Given the description of an element on the screen output the (x, y) to click on. 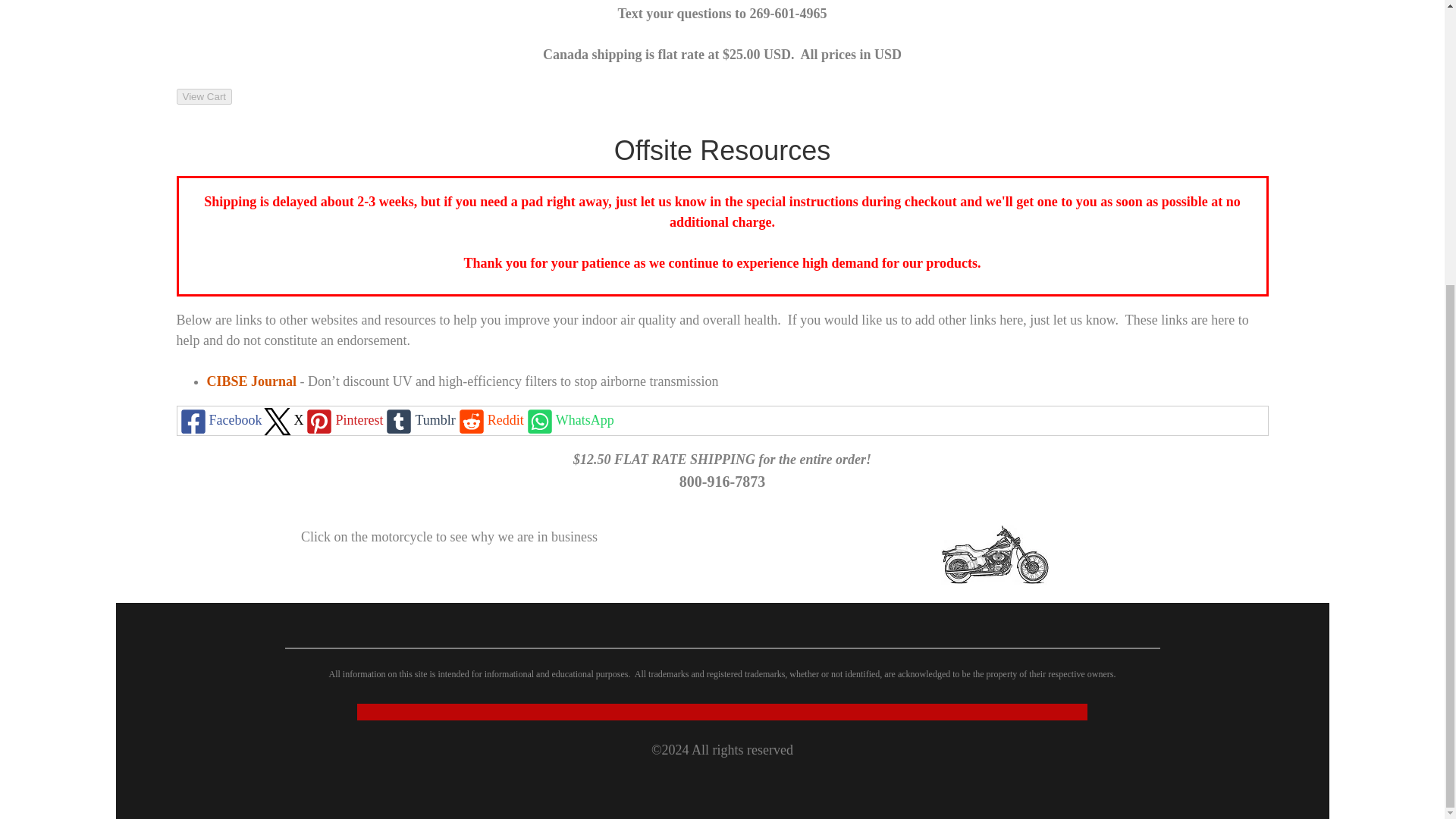
View Cart (203, 96)
Go to About Us (994, 580)
micropower-guard-motorcycle (994, 554)
